Given the description of an element on the screen output the (x, y) to click on. 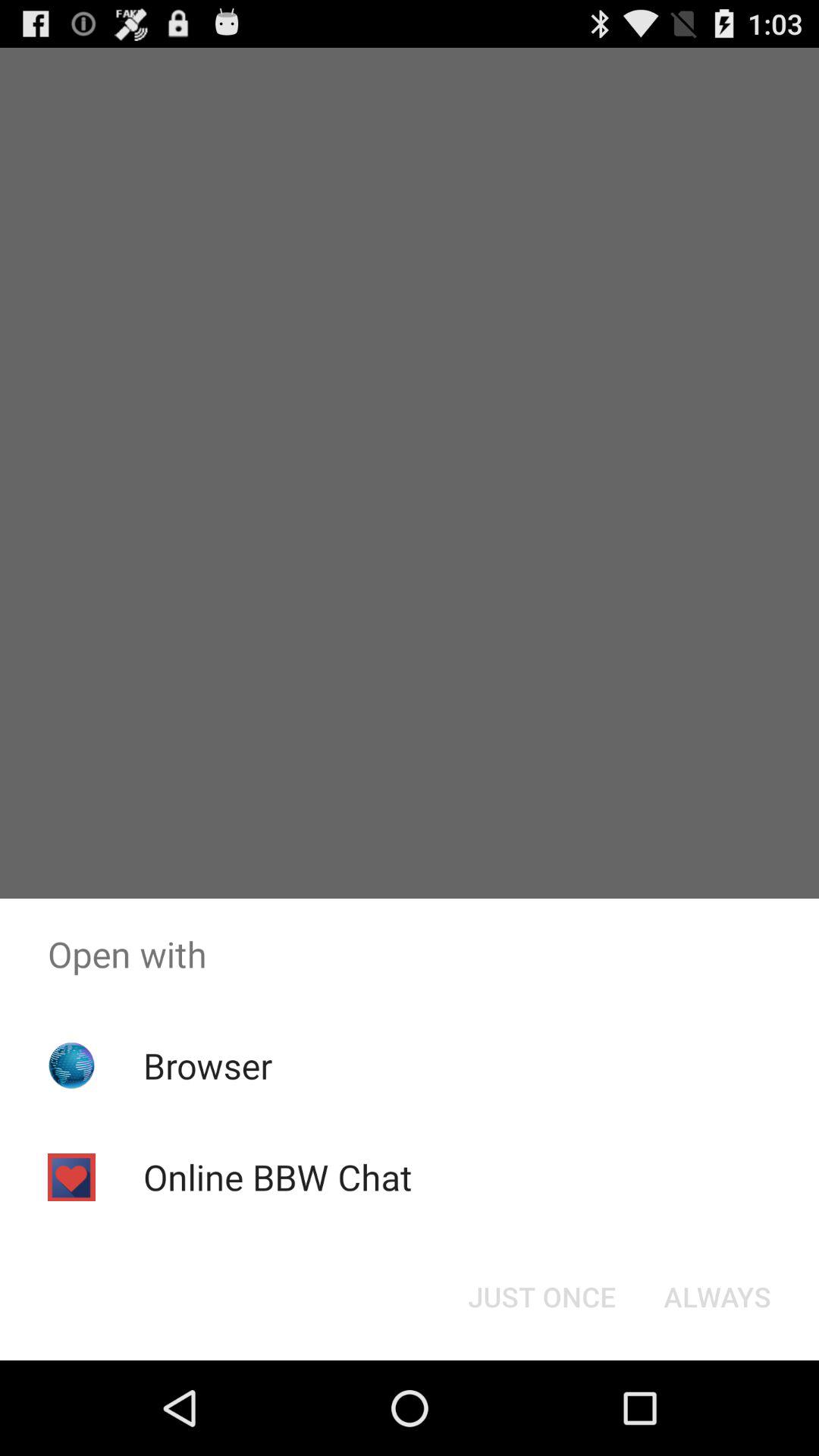
press the always (717, 1296)
